Given the description of an element on the screen output the (x, y) to click on. 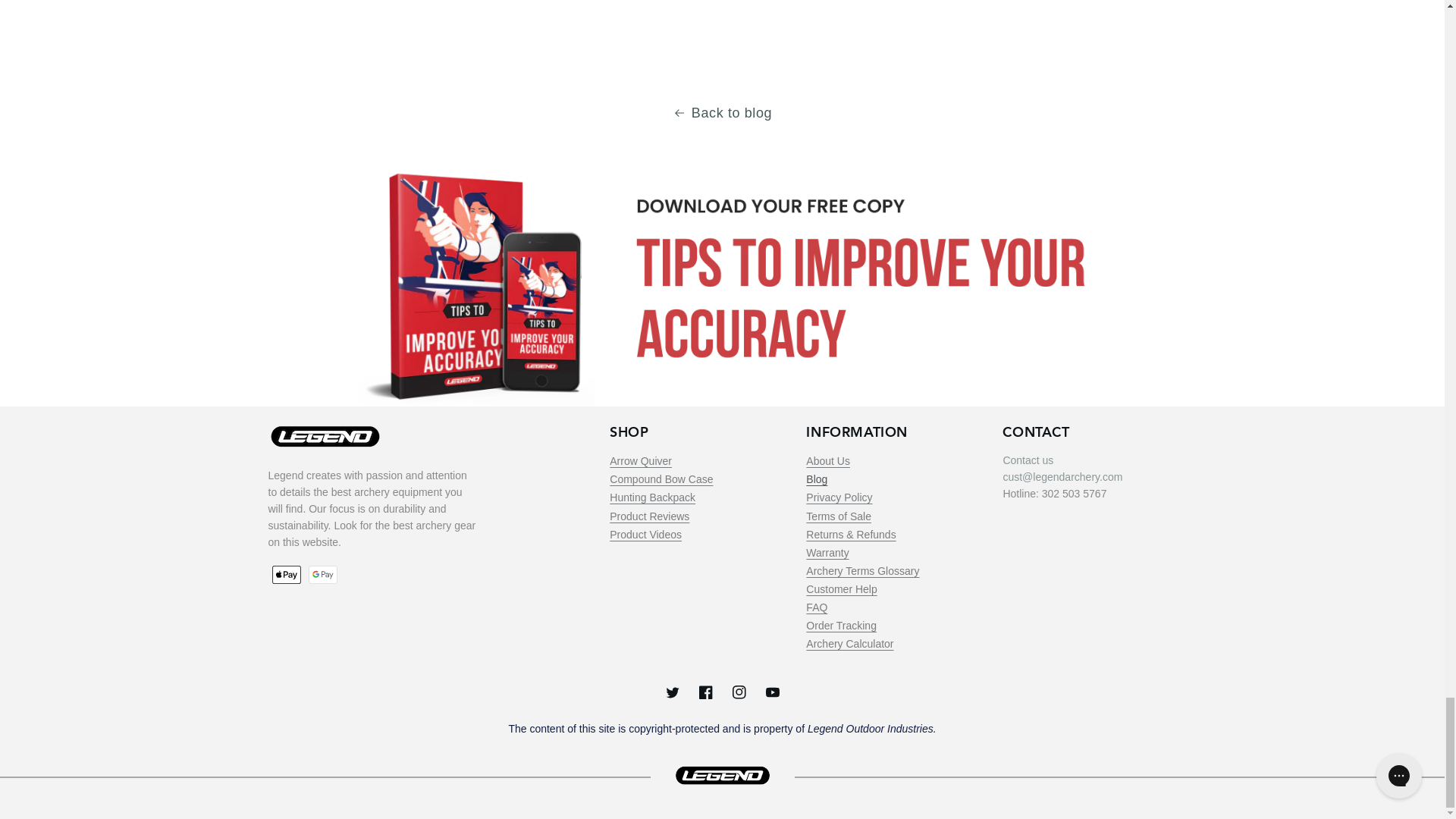
Contact Us (1027, 460)
